Given the description of an element on the screen output the (x, y) to click on. 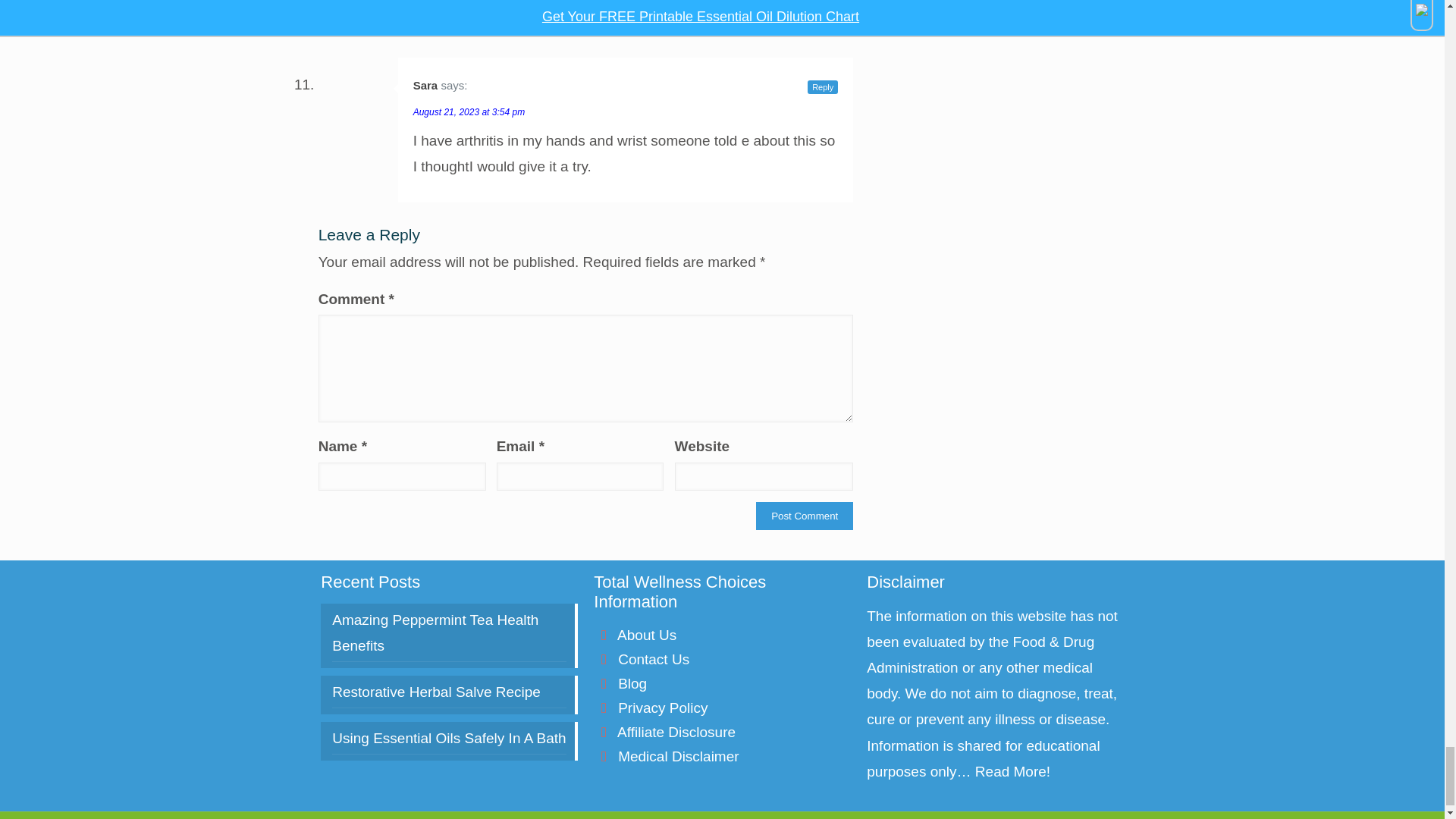
Post Comment (804, 515)
